Given the description of an element on the screen output the (x, y) to click on. 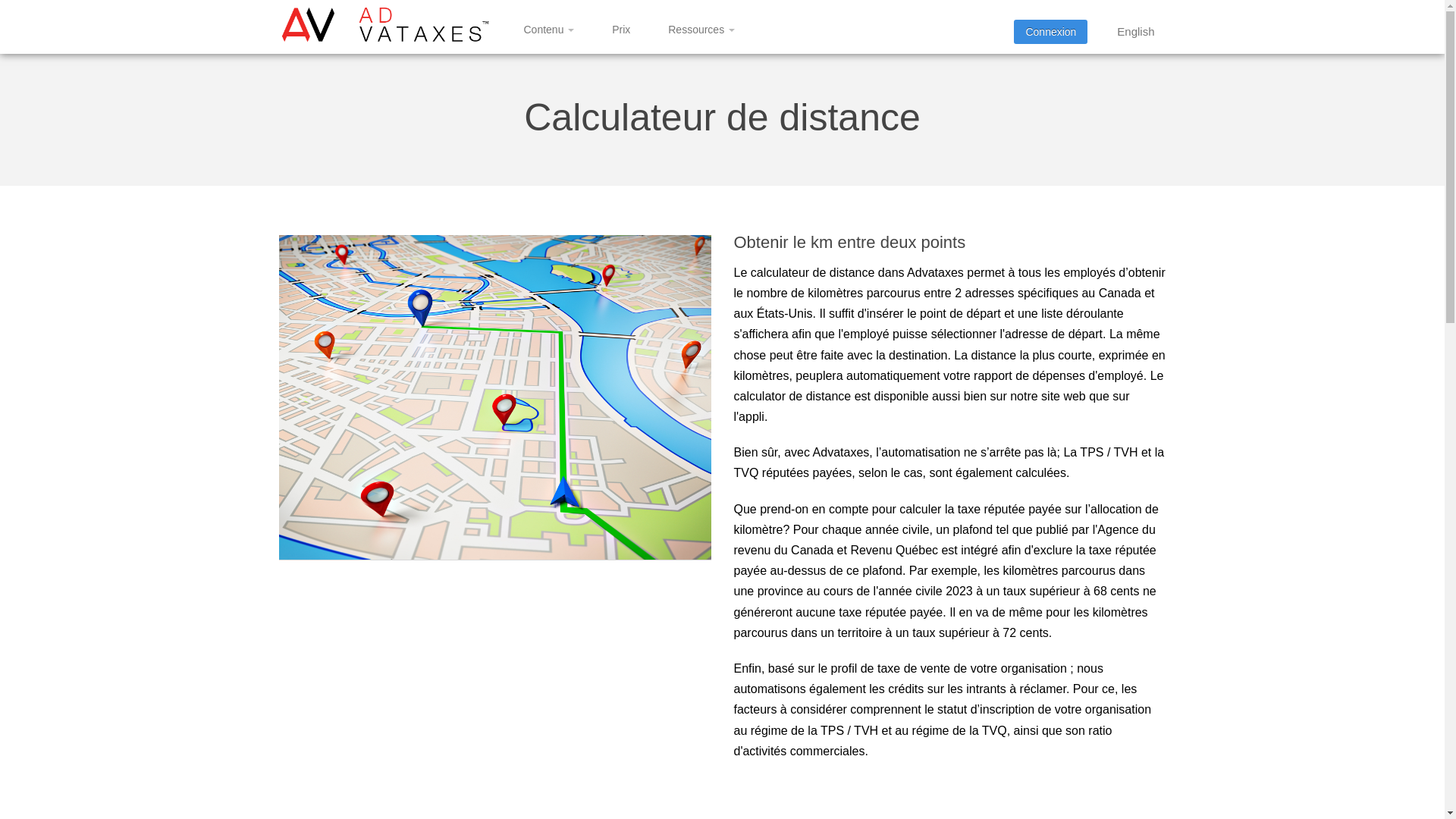
Ressources Element type: text (701, 29)
Contenu Element type: text (548, 29)
Prix Element type: text (620, 29)
Connexion Element type: text (1050, 31)
English Element type: text (1135, 31)
